Given the description of an element on the screen output the (x, y) to click on. 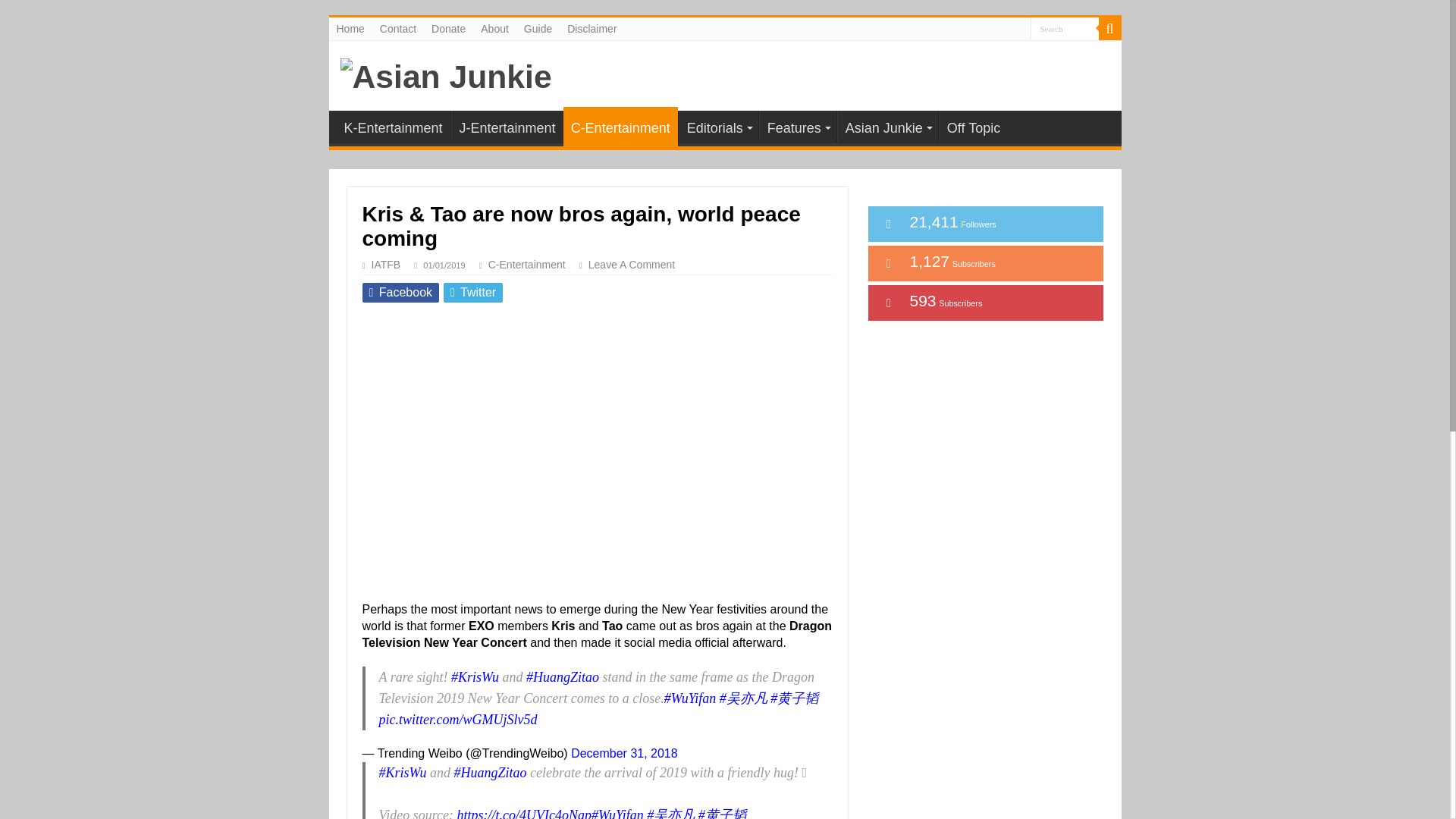
About (494, 28)
Leave A Comment (636, 264)
K-Entertainment (392, 126)
Home (350, 28)
IATFB (386, 264)
December 31, 2018 (624, 753)
Disclaimer (591, 28)
Guide (537, 28)
Off Topic (973, 126)
Twitter (473, 292)
Editorials (718, 126)
Search (1063, 28)
Facebook (400, 292)
Search (1063, 28)
Contact (397, 28)
